Given the description of an element on the screen output the (x, y) to click on. 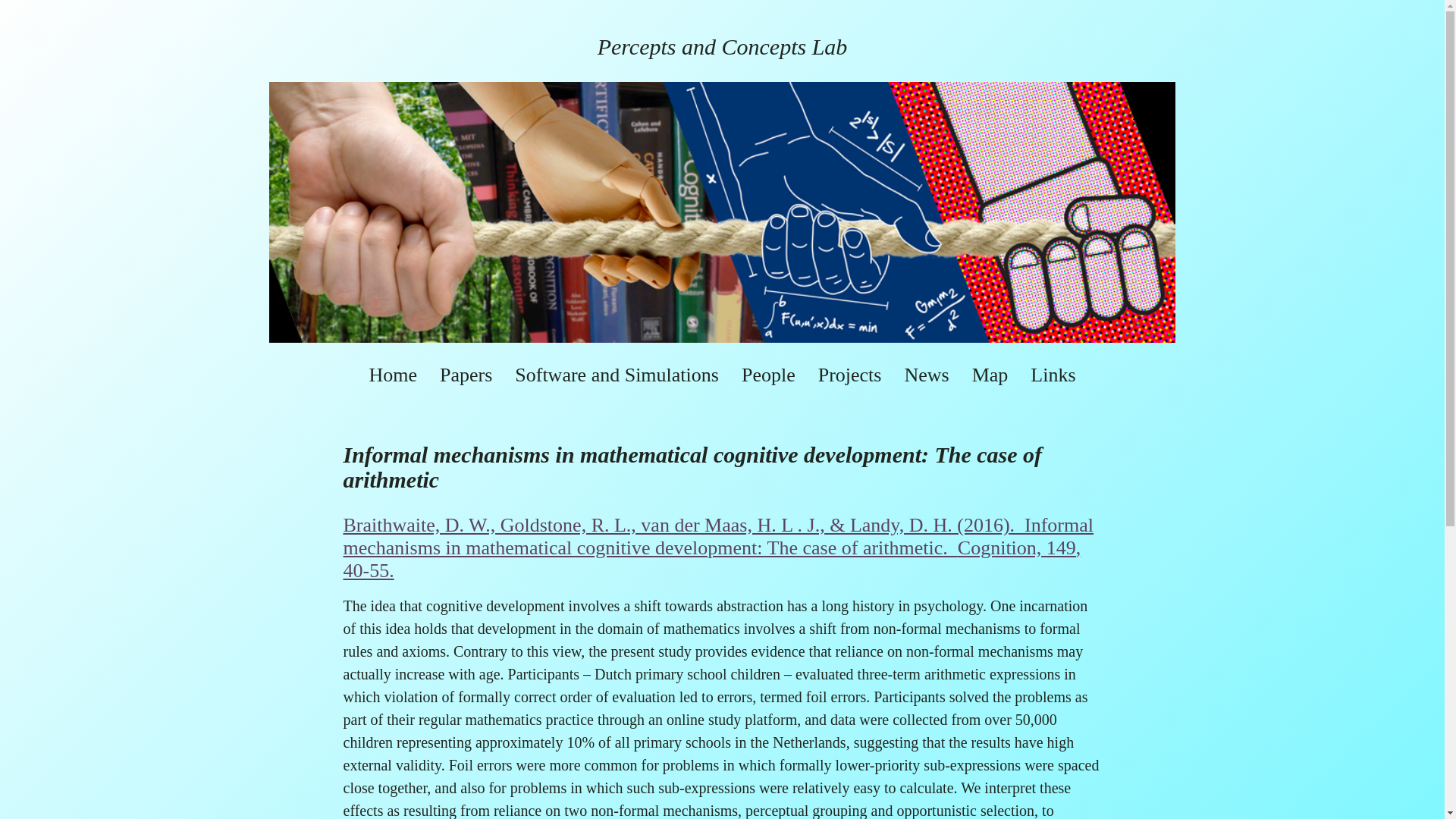
Map (990, 374)
Projects (850, 374)
Papers (465, 374)
Home (392, 374)
Software and Simulations (617, 374)
People (767, 374)
News (926, 374)
Links (1052, 374)
